Given the description of an element on the screen output the (x, y) to click on. 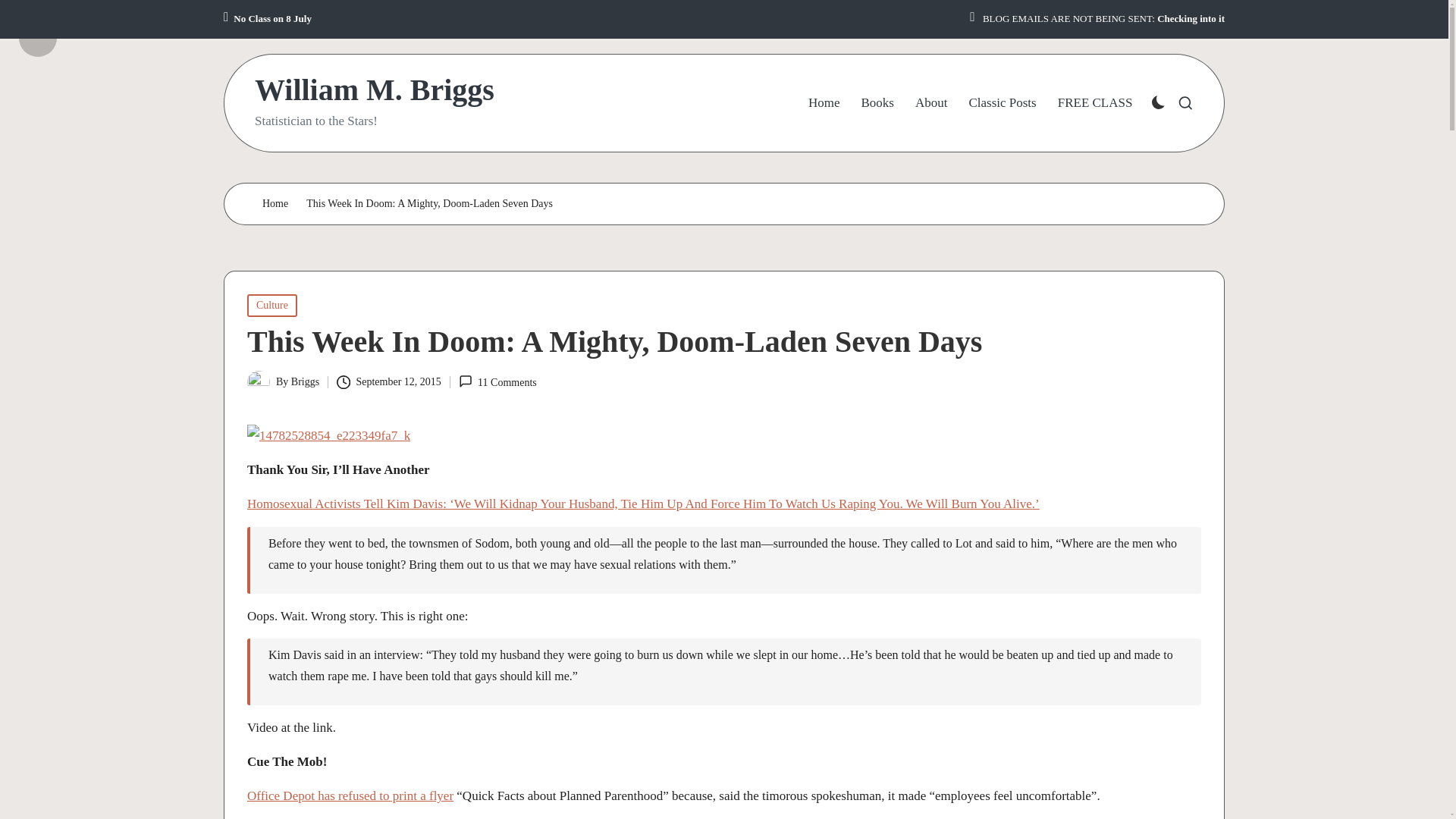
Classic Posts (1001, 103)
Home (824, 103)
View all posts by Briggs (304, 381)
Briggs (304, 381)
William M. Briggs (374, 90)
Books (876, 103)
Office Depot has refused to print a flyer (349, 795)
Home (275, 203)
FREE CLASS (1095, 103)
11 Comments (497, 381)
Culture (272, 305)
Checking into it (1190, 18)
About (931, 103)
